Given the description of an element on the screen output the (x, y) to click on. 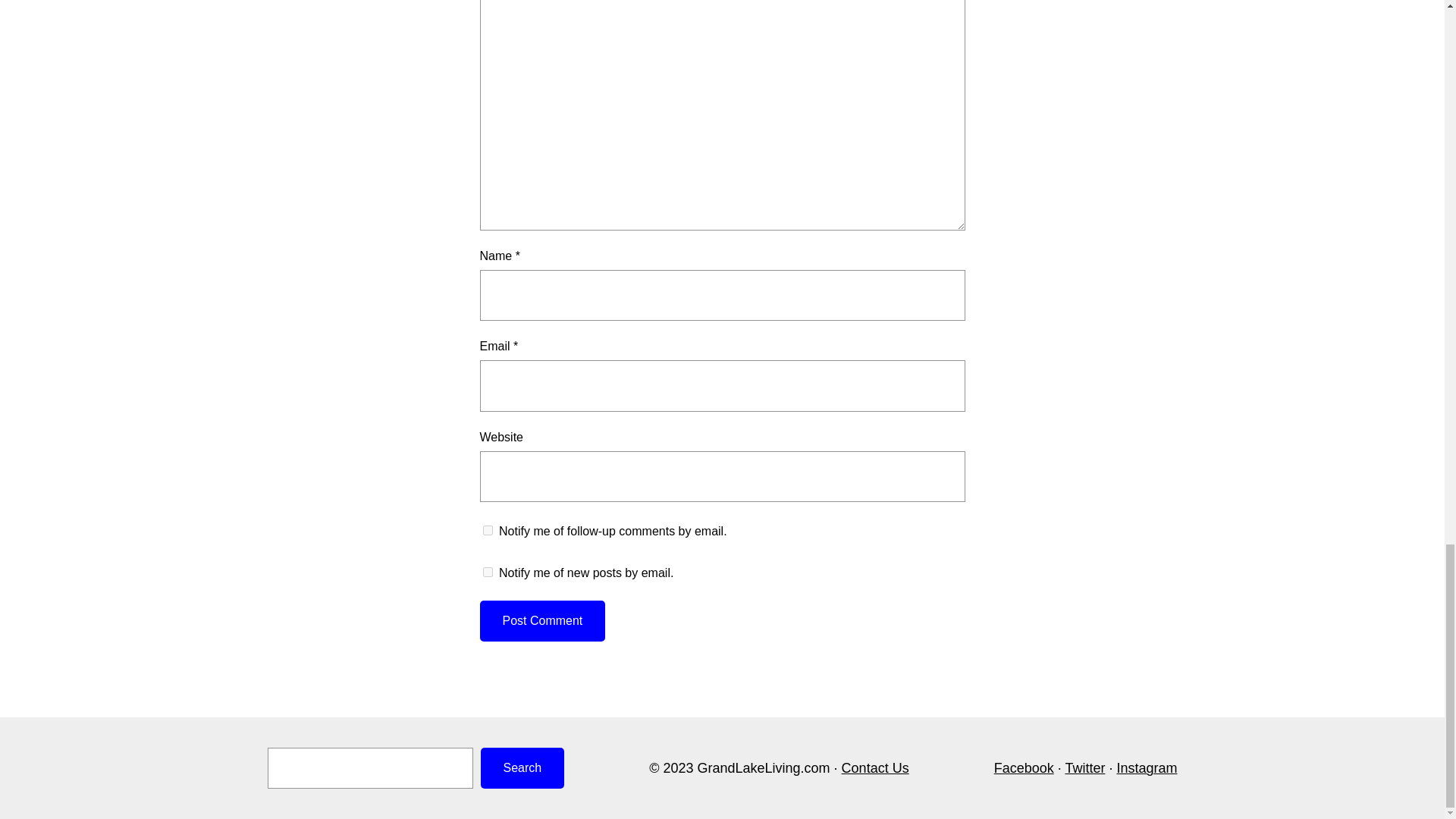
subscribe (486, 572)
subscribe (486, 530)
Post Comment (542, 620)
